Given the description of an element on the screen output the (x, y) to click on. 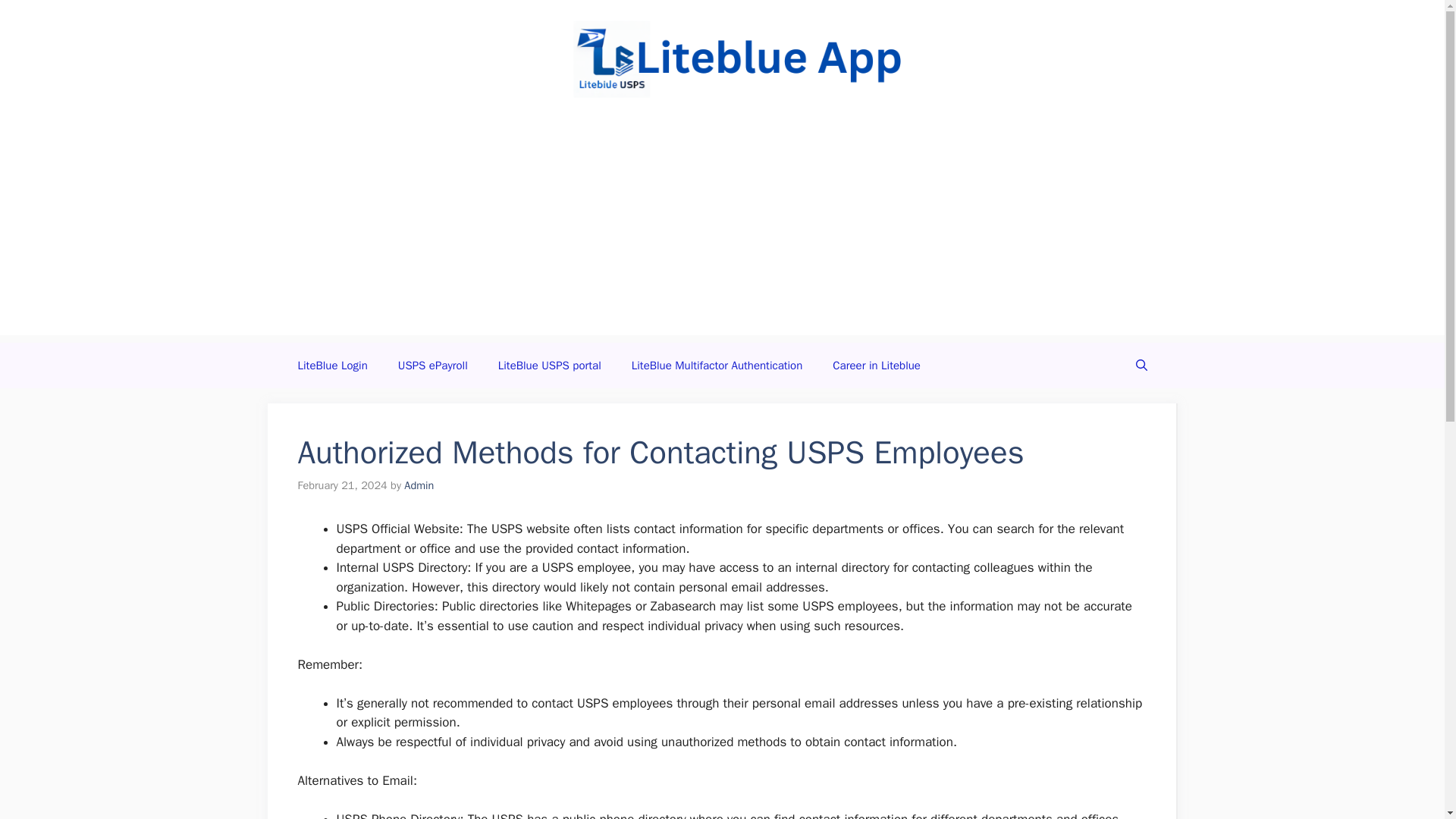
Career in Liteblue (876, 365)
View all posts by Admin (418, 485)
USPS ePayroll (432, 365)
LiteBlue Login (331, 365)
LiteBlue USPS portal (549, 365)
LiteBlue Multifactor Authentication (716, 365)
Admin (418, 485)
